Given the description of an element on the screen output the (x, y) to click on. 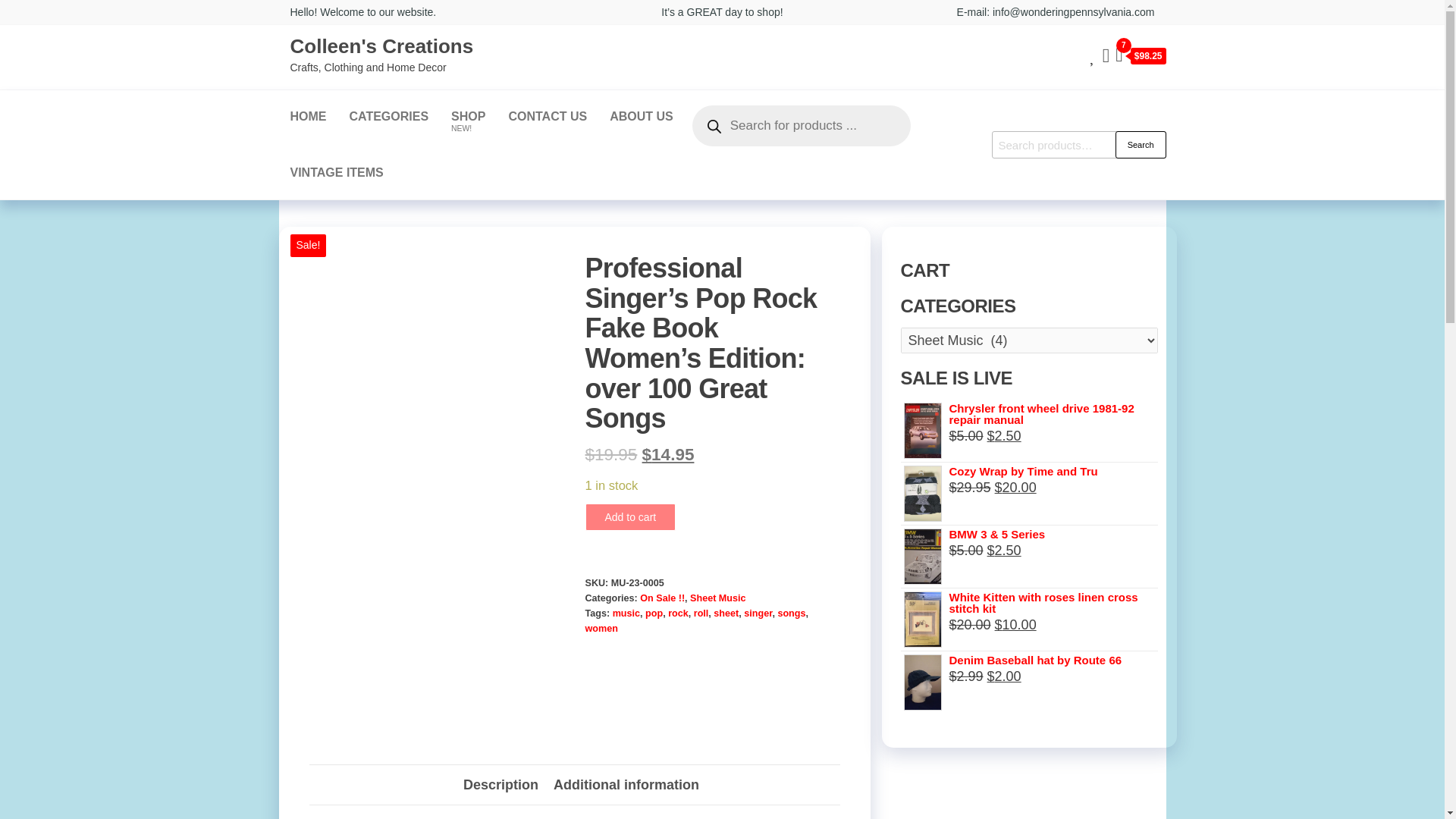
ABOUT US (641, 116)
rock (678, 613)
On Sale !! (662, 597)
Sheet Music (717, 597)
Search (467, 116)
CONTACT US (1140, 144)
CATEGORIES (547, 116)
Home (389, 116)
pop (308, 116)
